Given the description of an element on the screen output the (x, y) to click on. 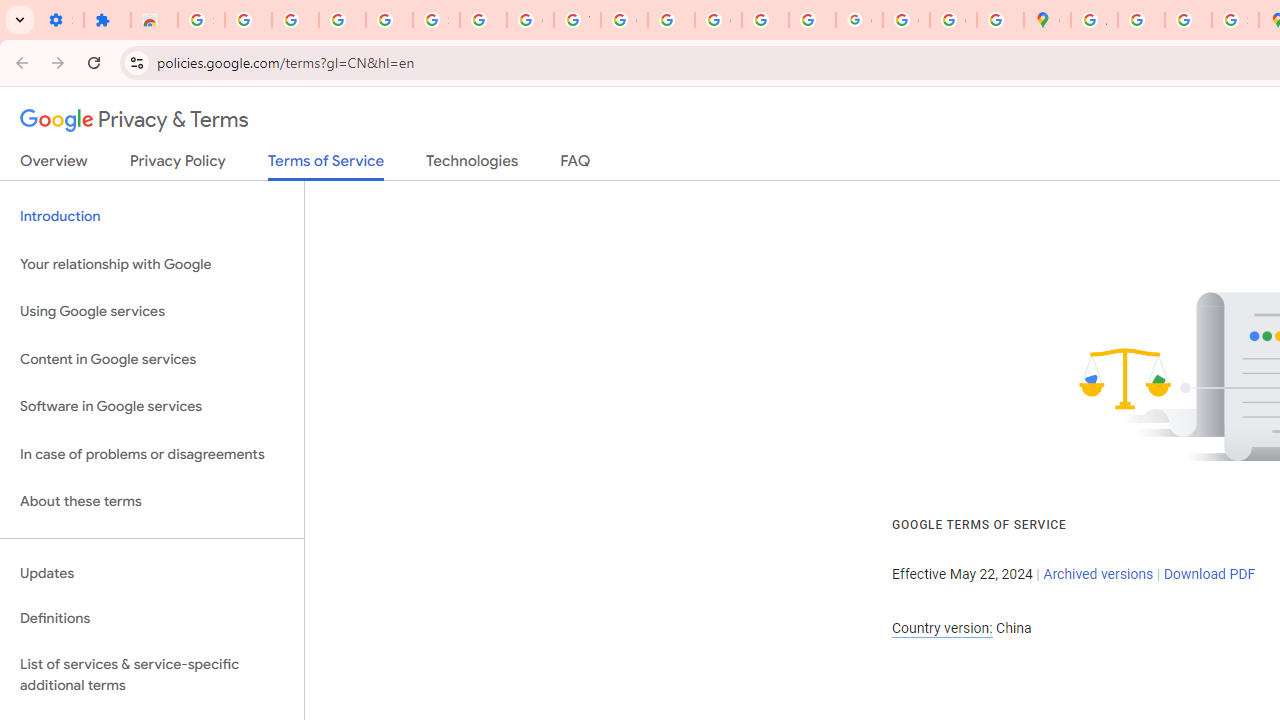
Sign in - Google Accounts (201, 20)
Delete photos & videos - Computer - Google Photos Help (294, 20)
Download PDF (1209, 574)
In case of problems or disagreements (152, 453)
Your relationship with Google (152, 263)
